Given the description of an element on the screen output the (x, y) to click on. 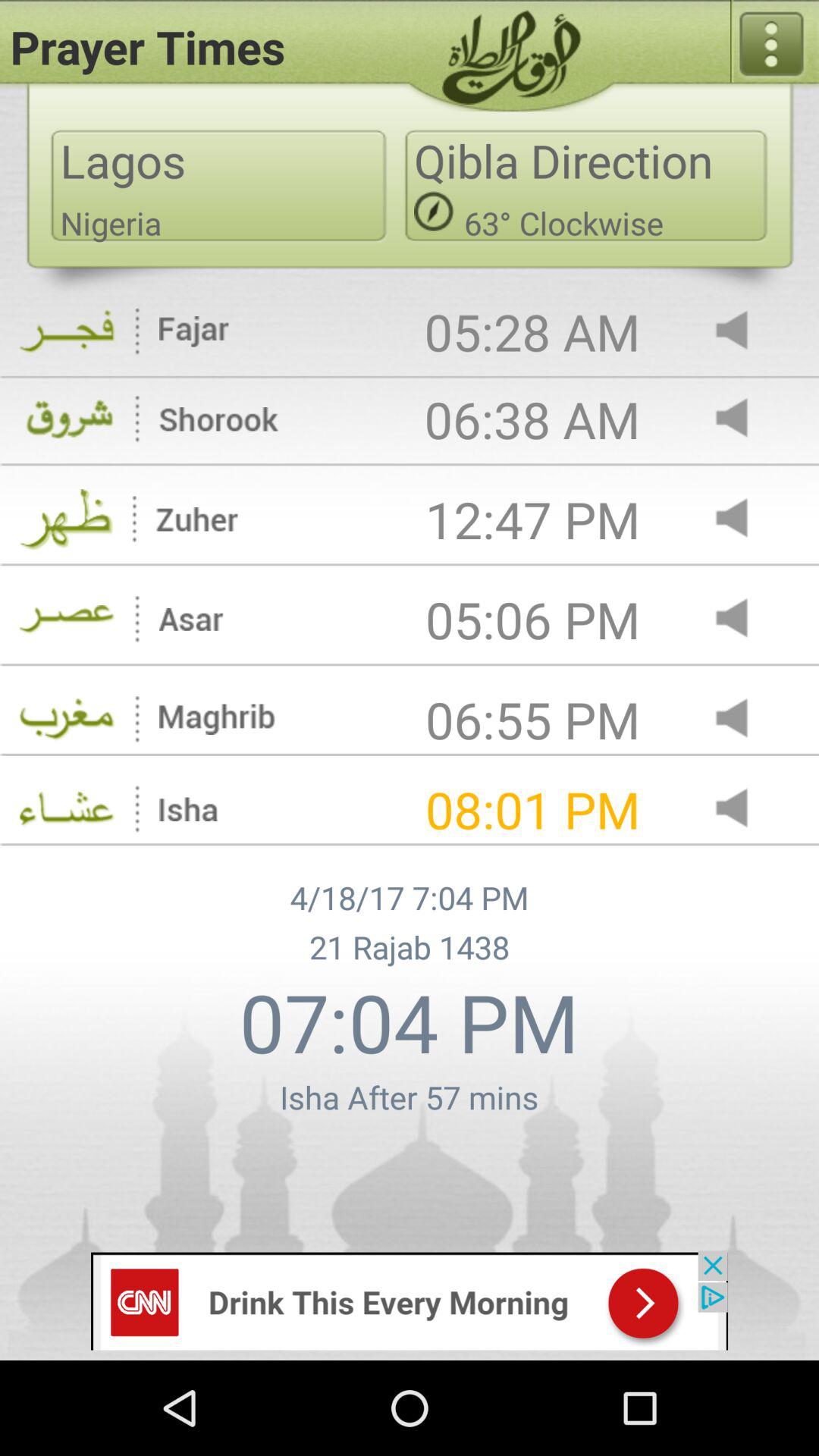
listen to audio (744, 331)
